Given the description of an element on the screen output the (x, y) to click on. 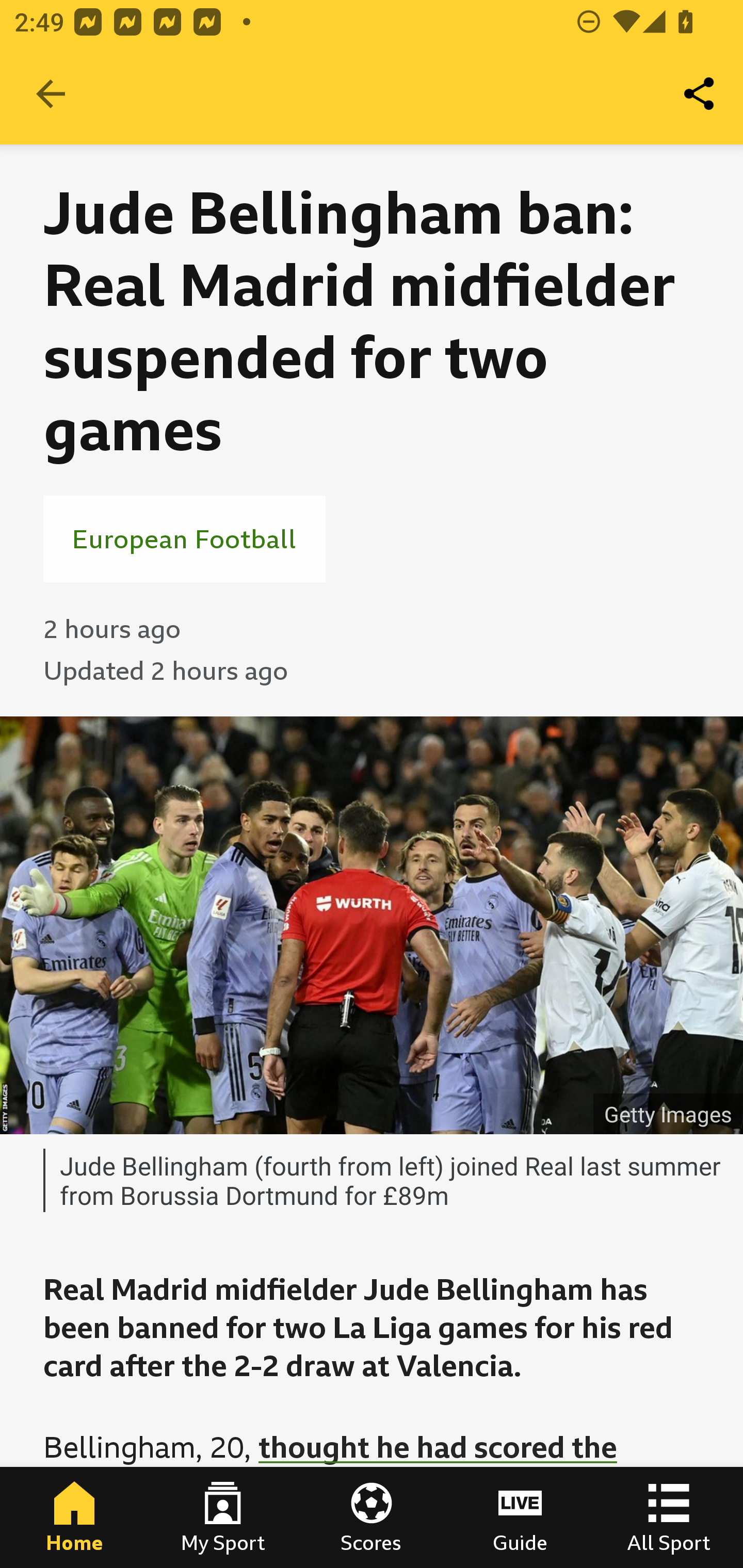
Navigate up (50, 93)
Share (699, 93)
European Football (184, 538)
My Sport (222, 1517)
Scores (371, 1517)
Guide (519, 1517)
All Sport (668, 1517)
